Given the description of an element on the screen output the (x, y) to click on. 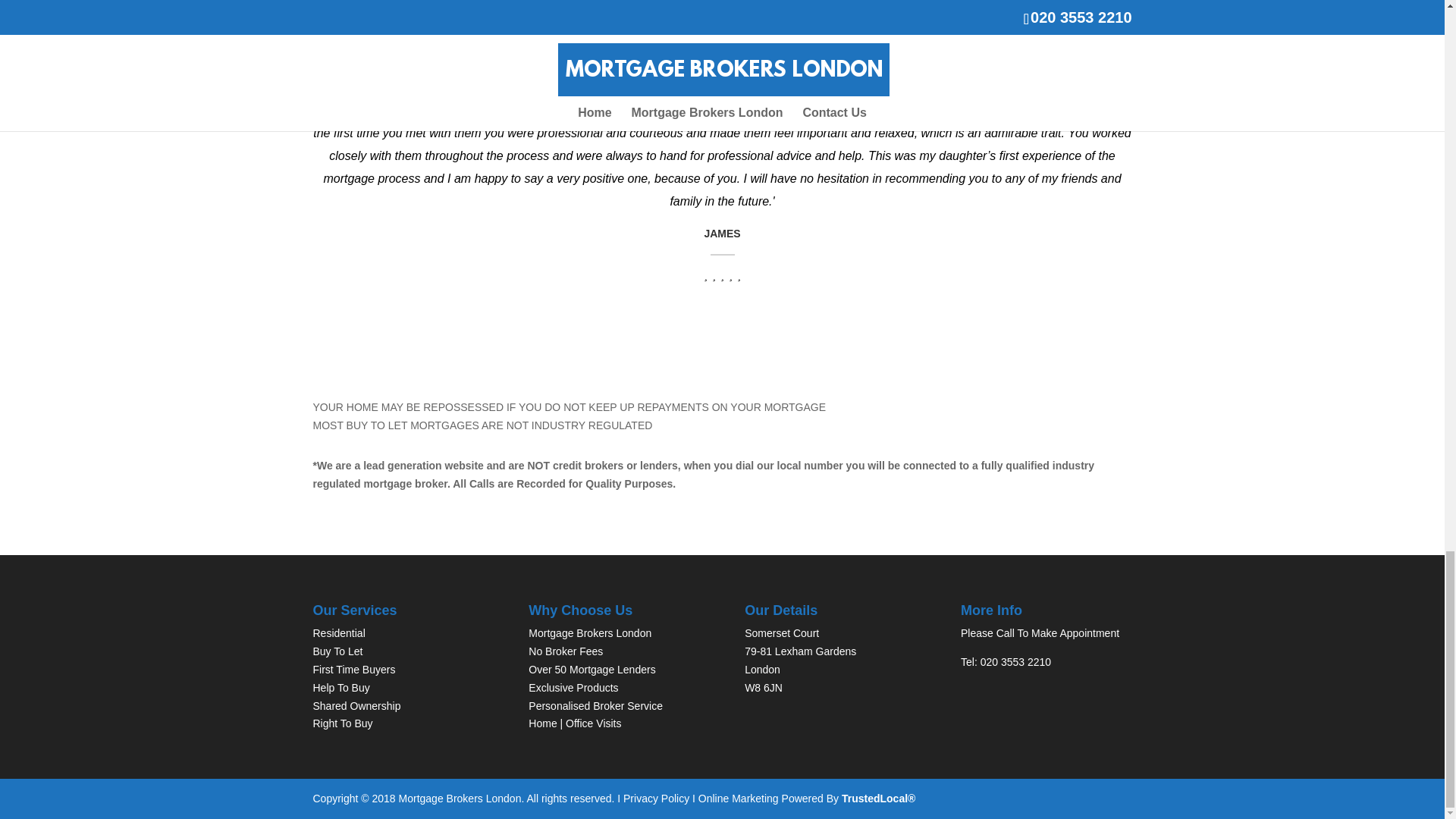
020 3553 2210 (1015, 662)
